Given the description of an element on the screen output the (x, y) to click on. 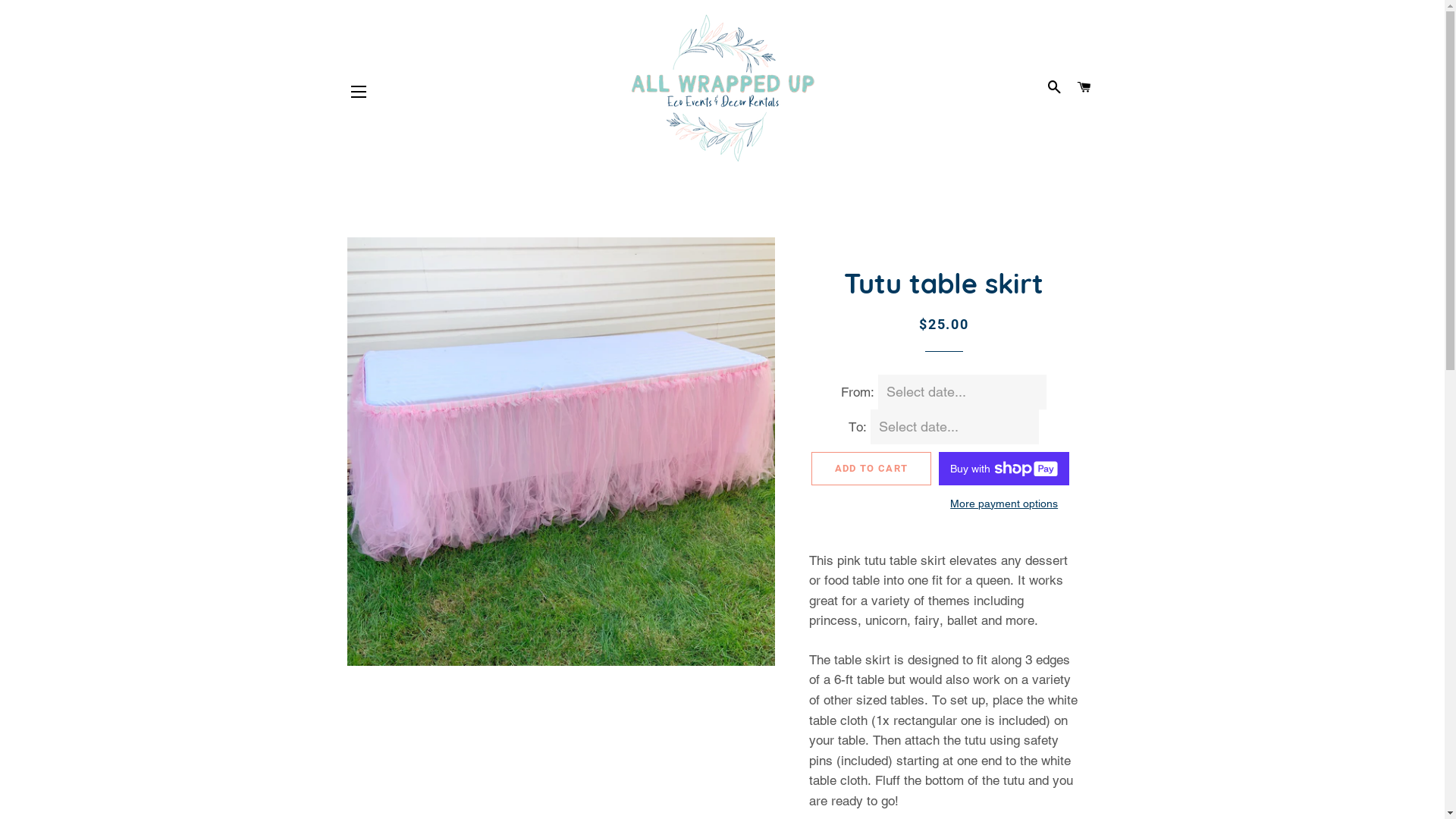
More payment options Element type: text (1003, 503)
CART Element type: text (1084, 87)
SITE NAVIGATION Element type: text (358, 91)
SEARCH Element type: text (1054, 87)
ADD TO CART Element type: text (871, 468)
